Given the description of an element on the screen output the (x, y) to click on. 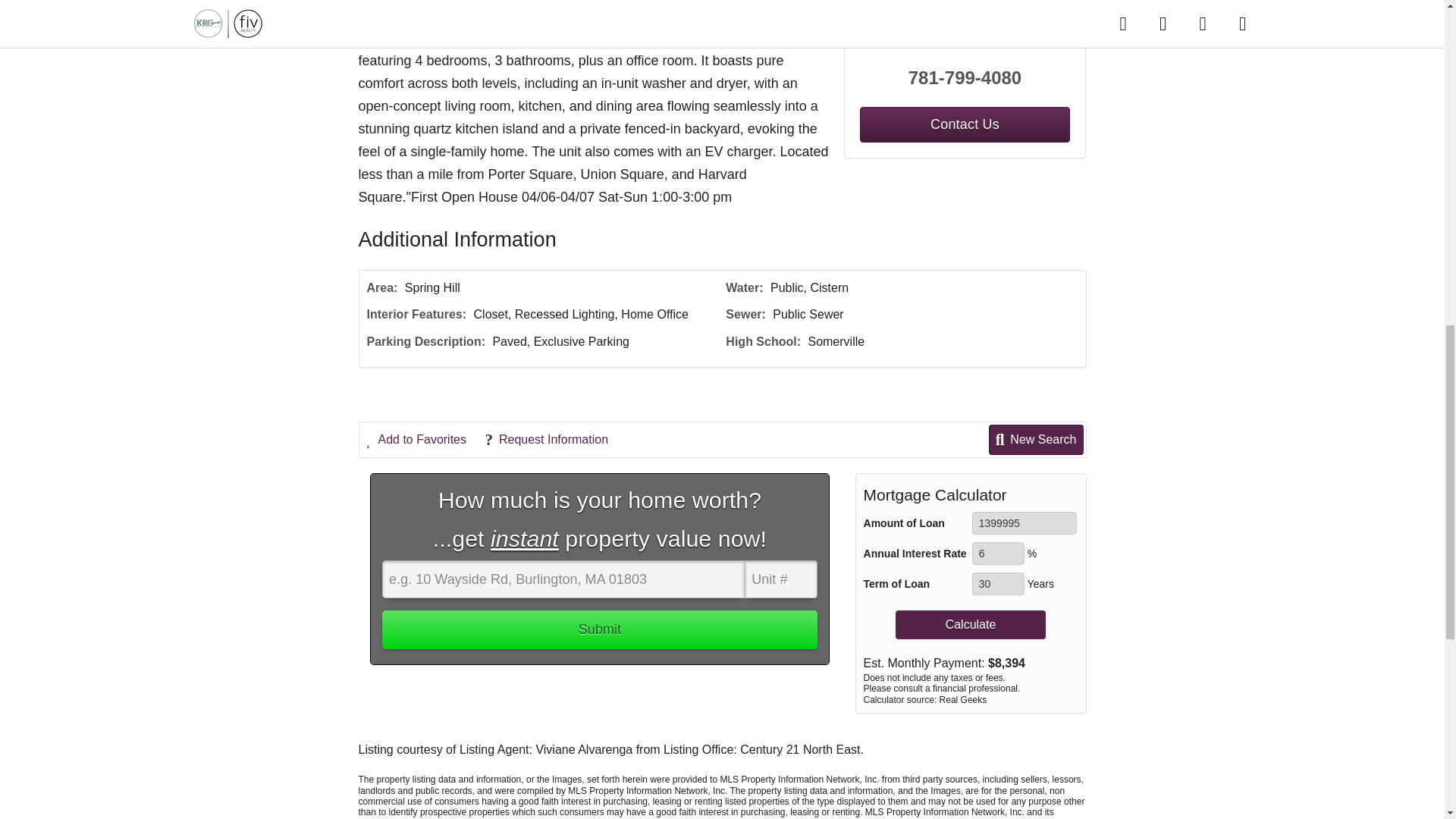
6 (998, 553)
30 (998, 583)
1399995 (1024, 522)
